Given the description of an element on the screen output the (x, y) to click on. 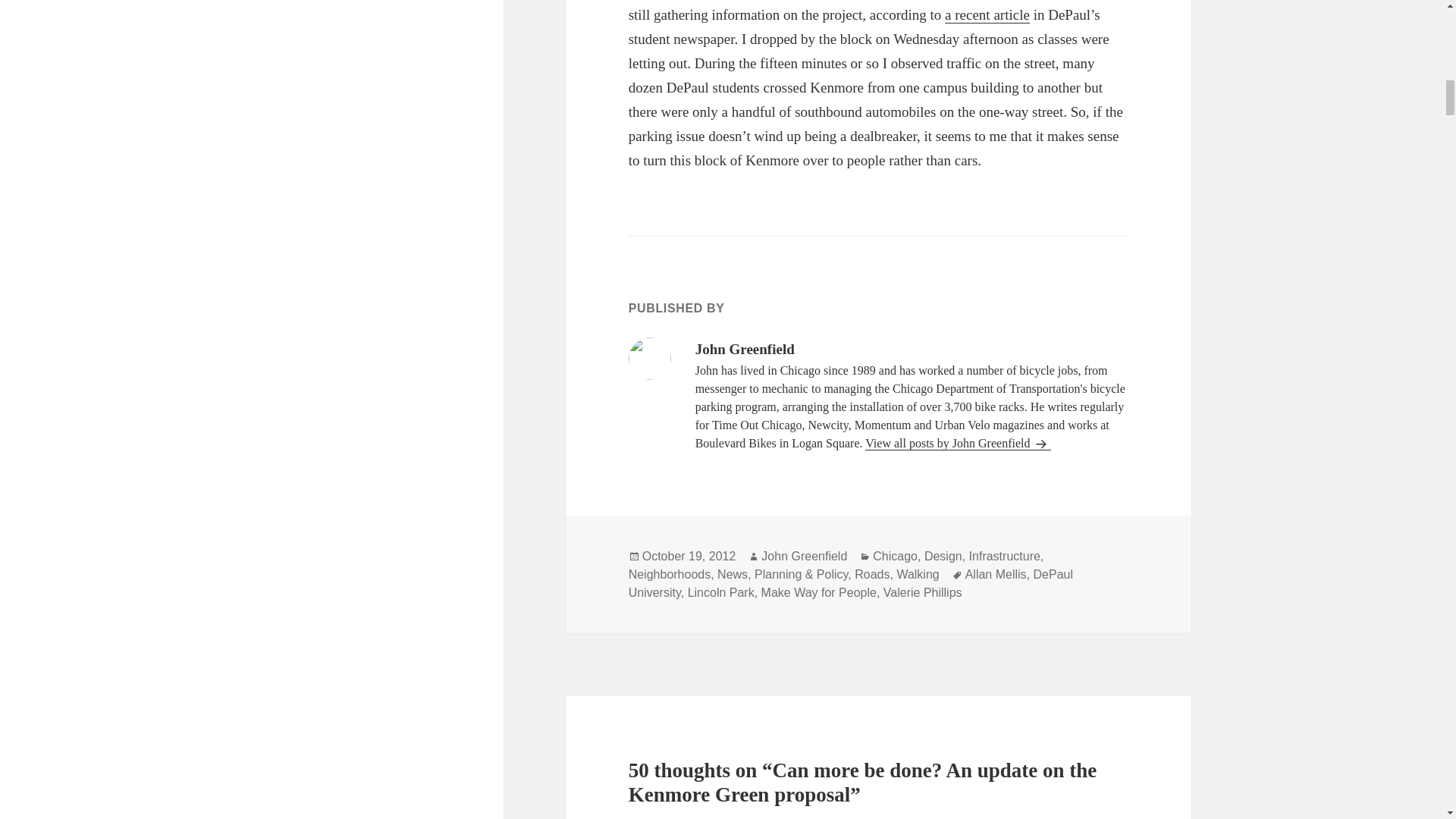
View all posts by John Greenfield (957, 443)
Infrastructure (1005, 556)
October 19, 2012 (689, 556)
Neighborhoods (669, 574)
Walking (917, 574)
DePaul University (850, 583)
Roads (871, 574)
a recent article (986, 14)
Allan Mellis (995, 574)
Make Way for People (818, 592)
